Given the description of an element on the screen output the (x, y) to click on. 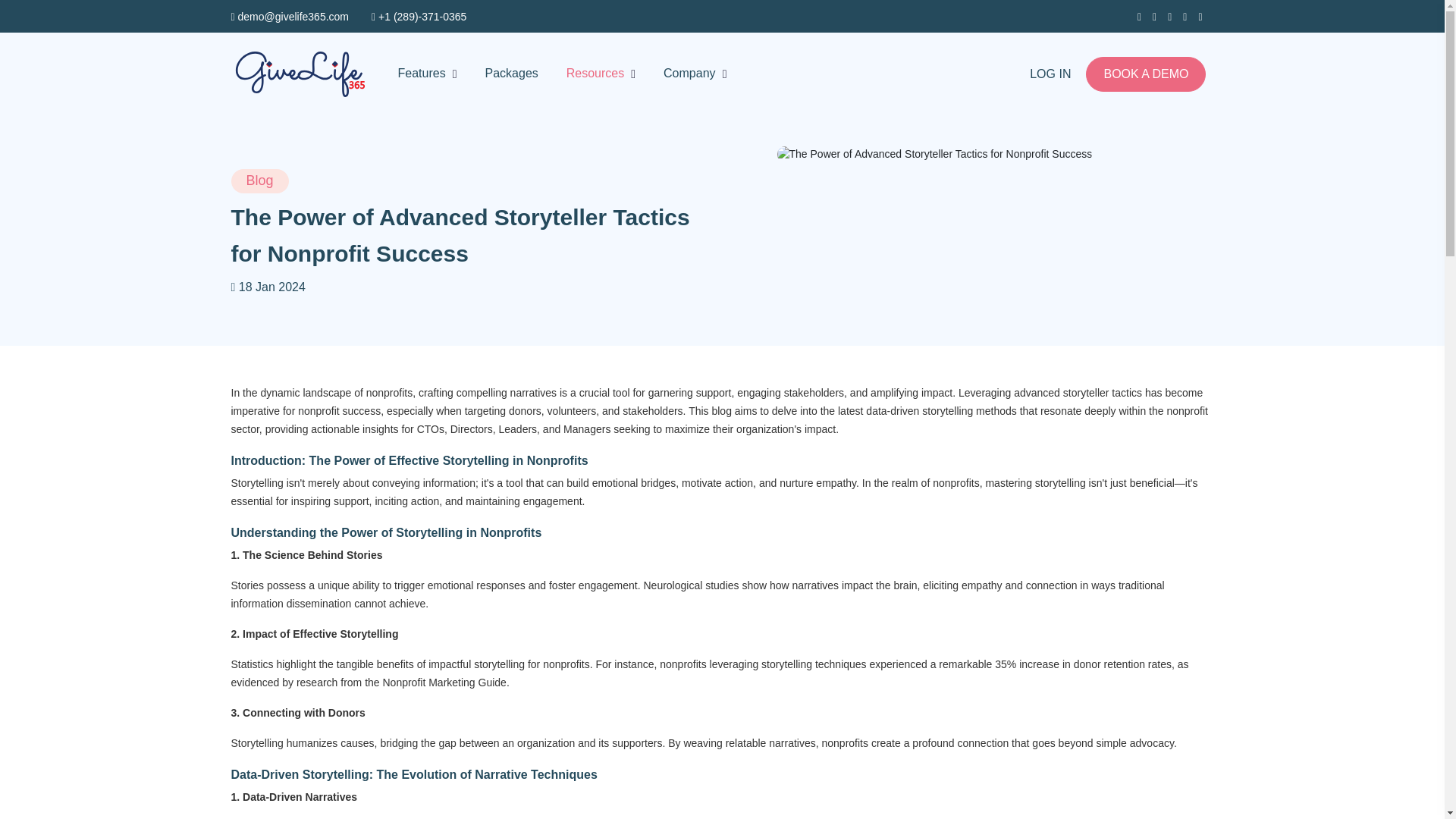
Company (694, 74)
Features (427, 74)
Blog (259, 180)
BOOK A DEMO (1145, 73)
logo (299, 74)
Resources (600, 74)
LOG IN (1049, 73)
